Given the description of an element on the screen output the (x, y) to click on. 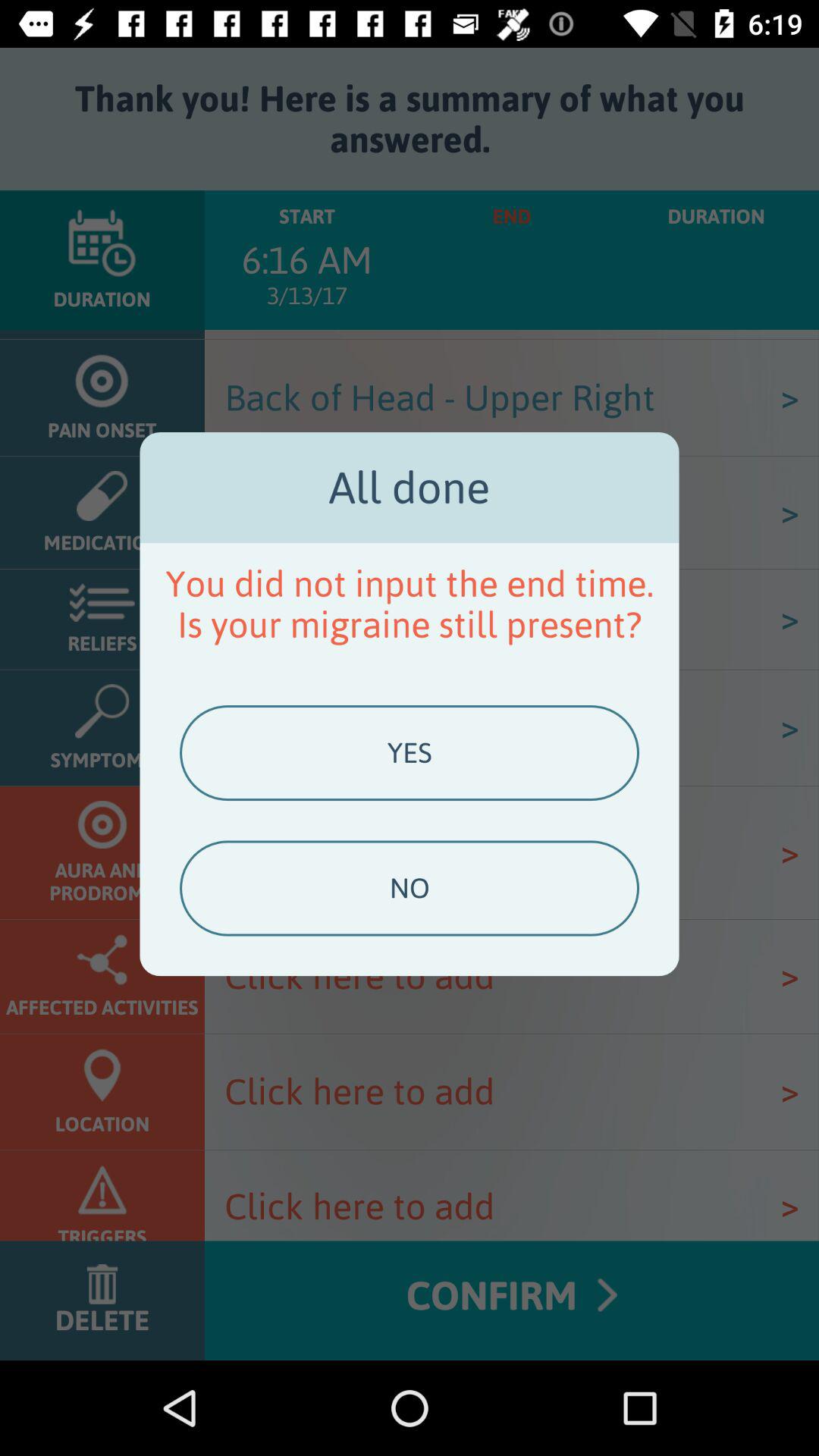
open item below the you did not app (409, 752)
